Given the description of an element on the screen output the (x, y) to click on. 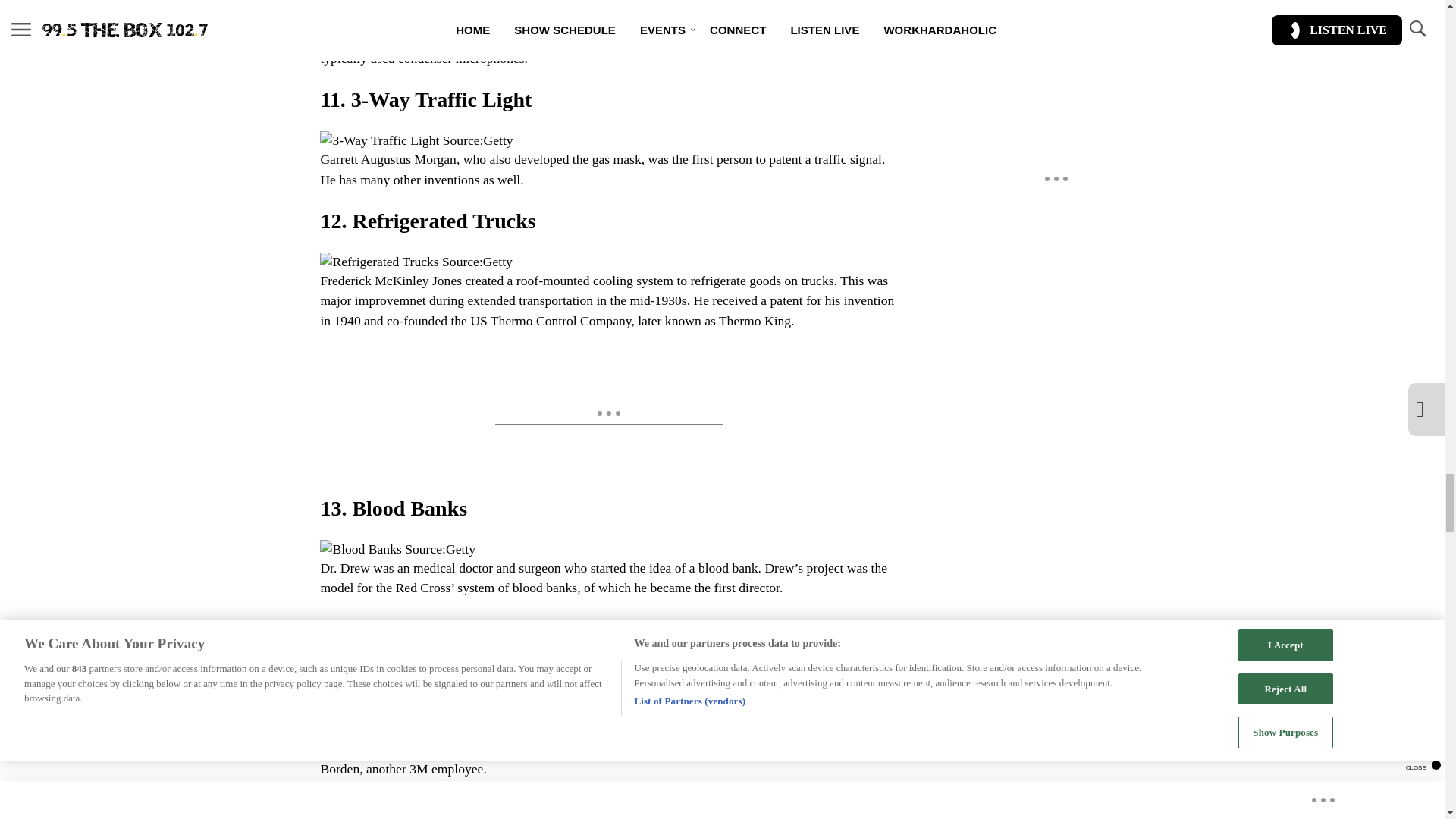
Vuukle Sharebar Widget (585, 808)
